Given the description of an element on the screen output the (x, y) to click on. 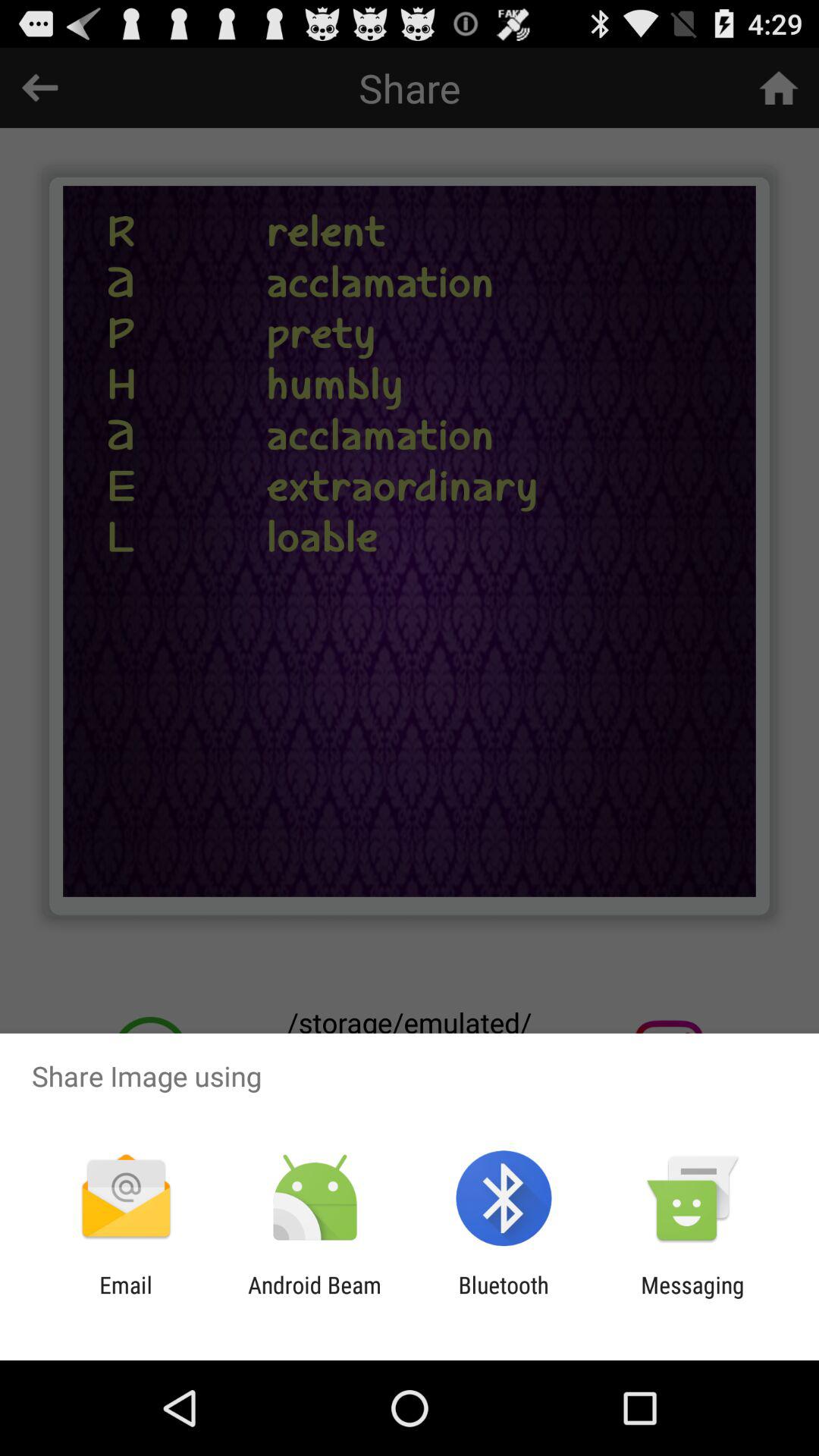
scroll to android beam icon (314, 1298)
